Given the description of an element on the screen output the (x, y) to click on. 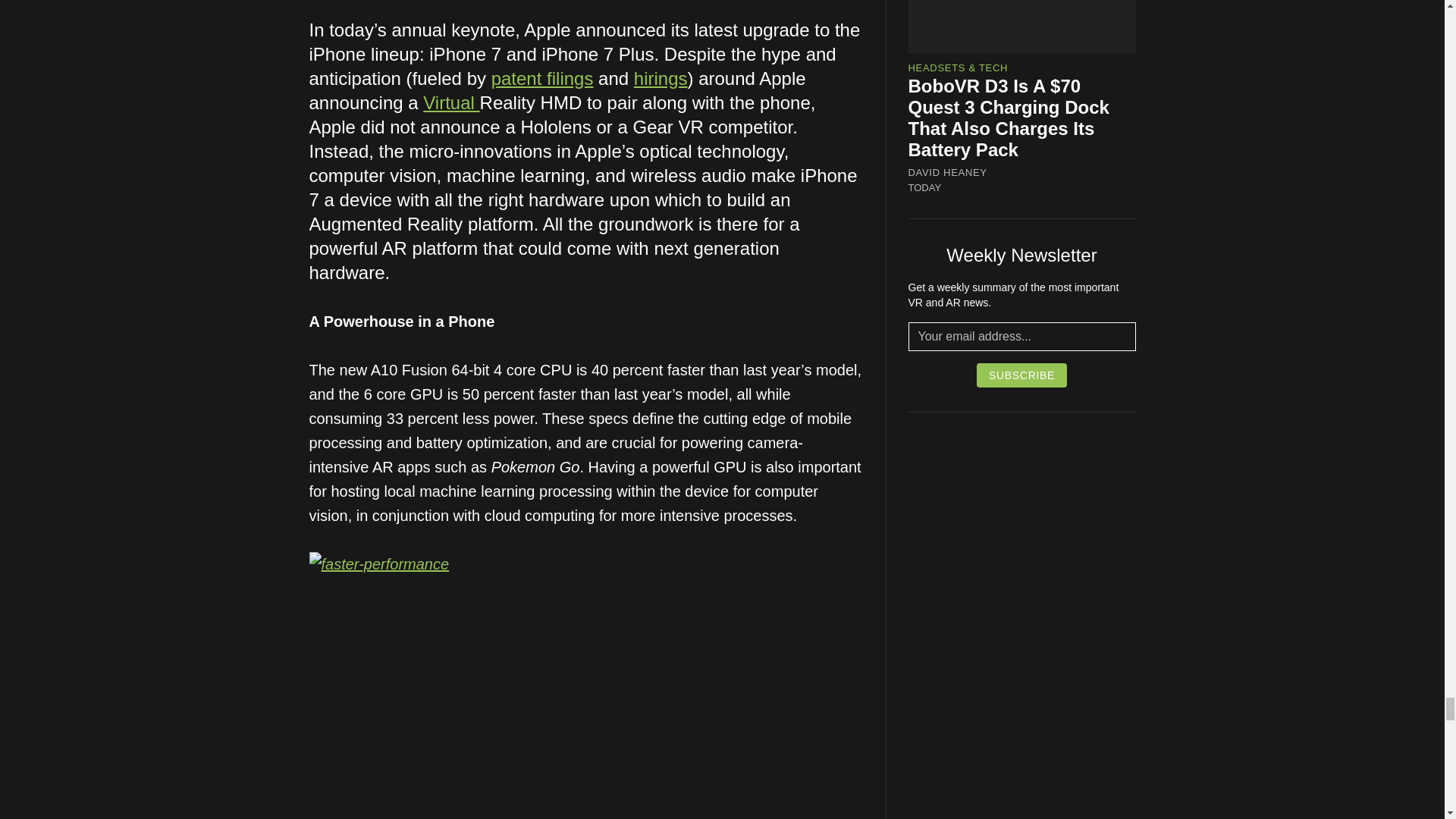
hirings (660, 77)
patent filings (543, 77)
DAVID HEANEY (947, 173)
Subscribe (1021, 375)
Virtual (451, 102)
Subscribe (1021, 375)
